Given the description of an element on the screen output the (x, y) to click on. 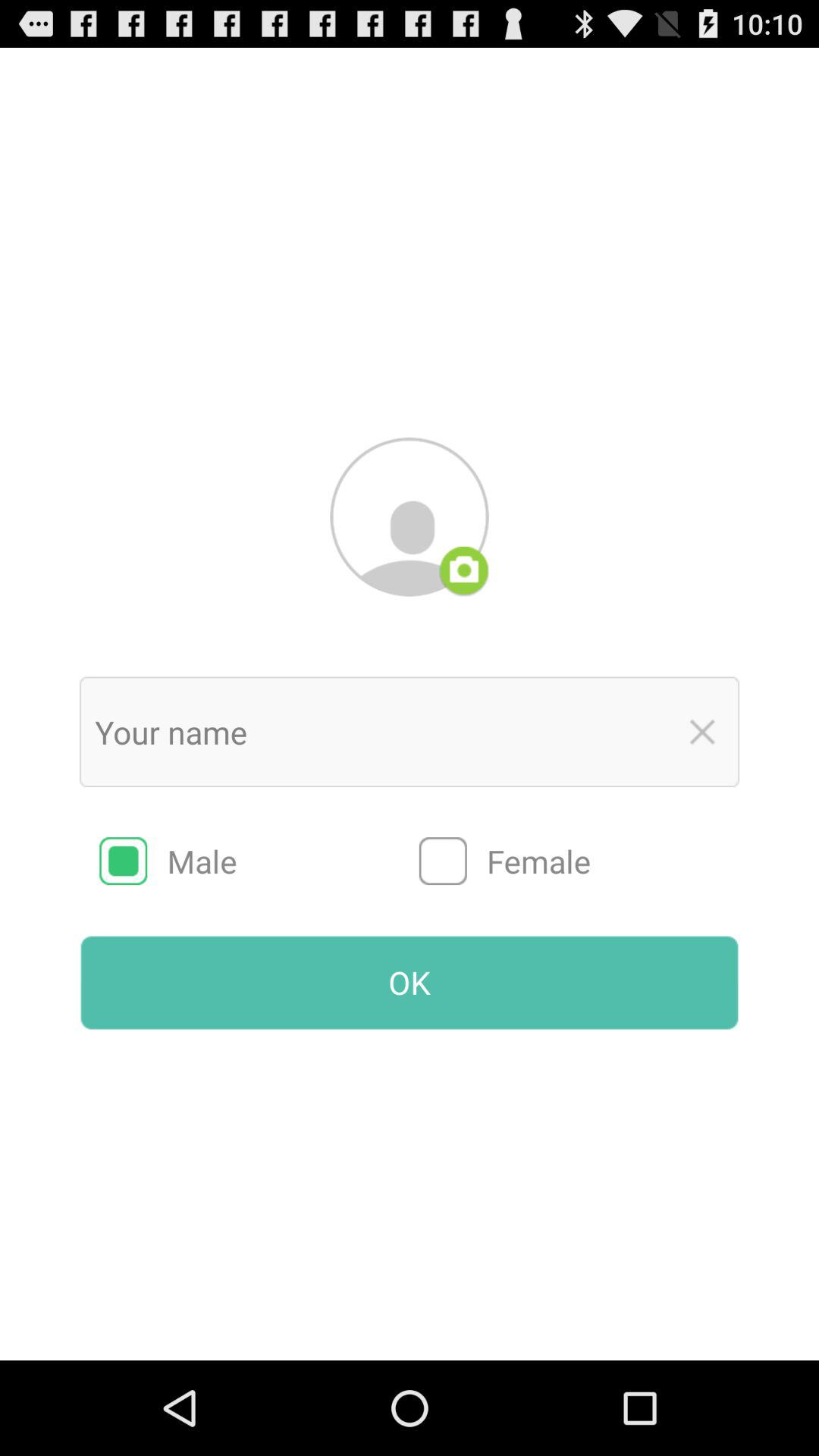
open radio button next to the female (259, 860)
